Given the description of an element on the screen output the (x, y) to click on. 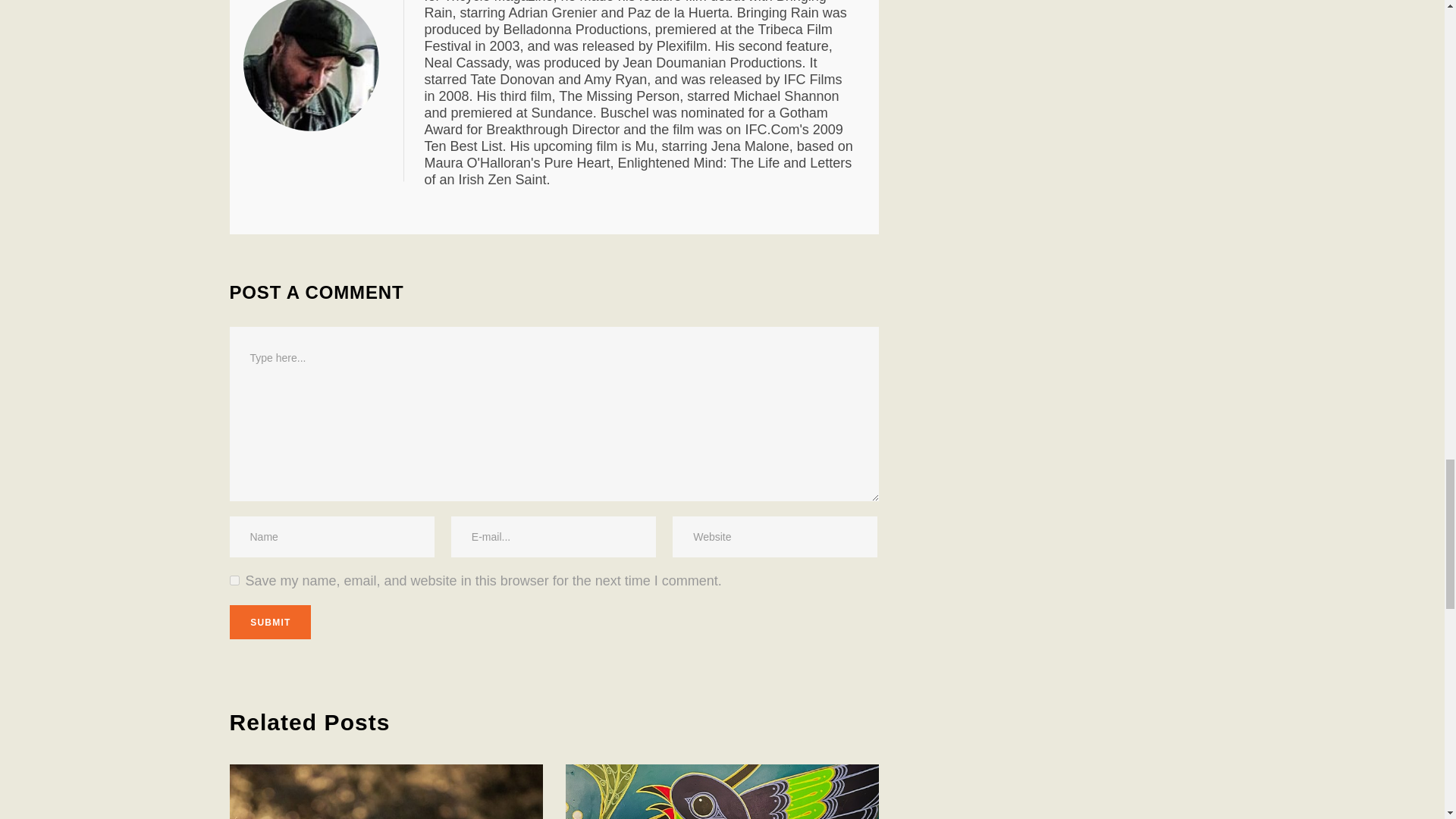
FORGOTTEN PHOENIX by Noah Buschel (323, 65)
yes (233, 580)
